Given the description of an element on the screen output the (x, y) to click on. 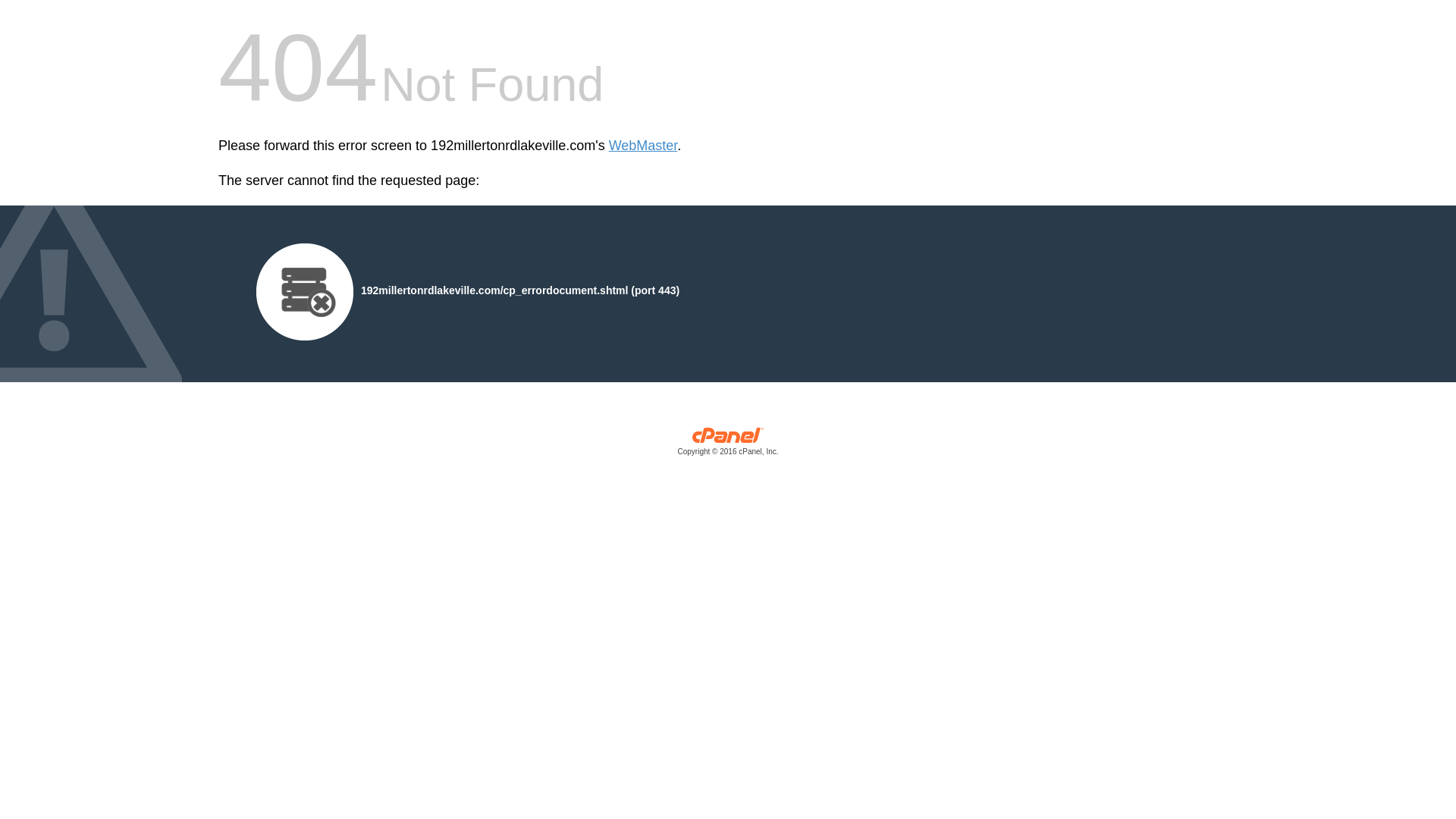
WebMaster Element type: text (642, 145)
